Given the description of an element on the screen output the (x, y) to click on. 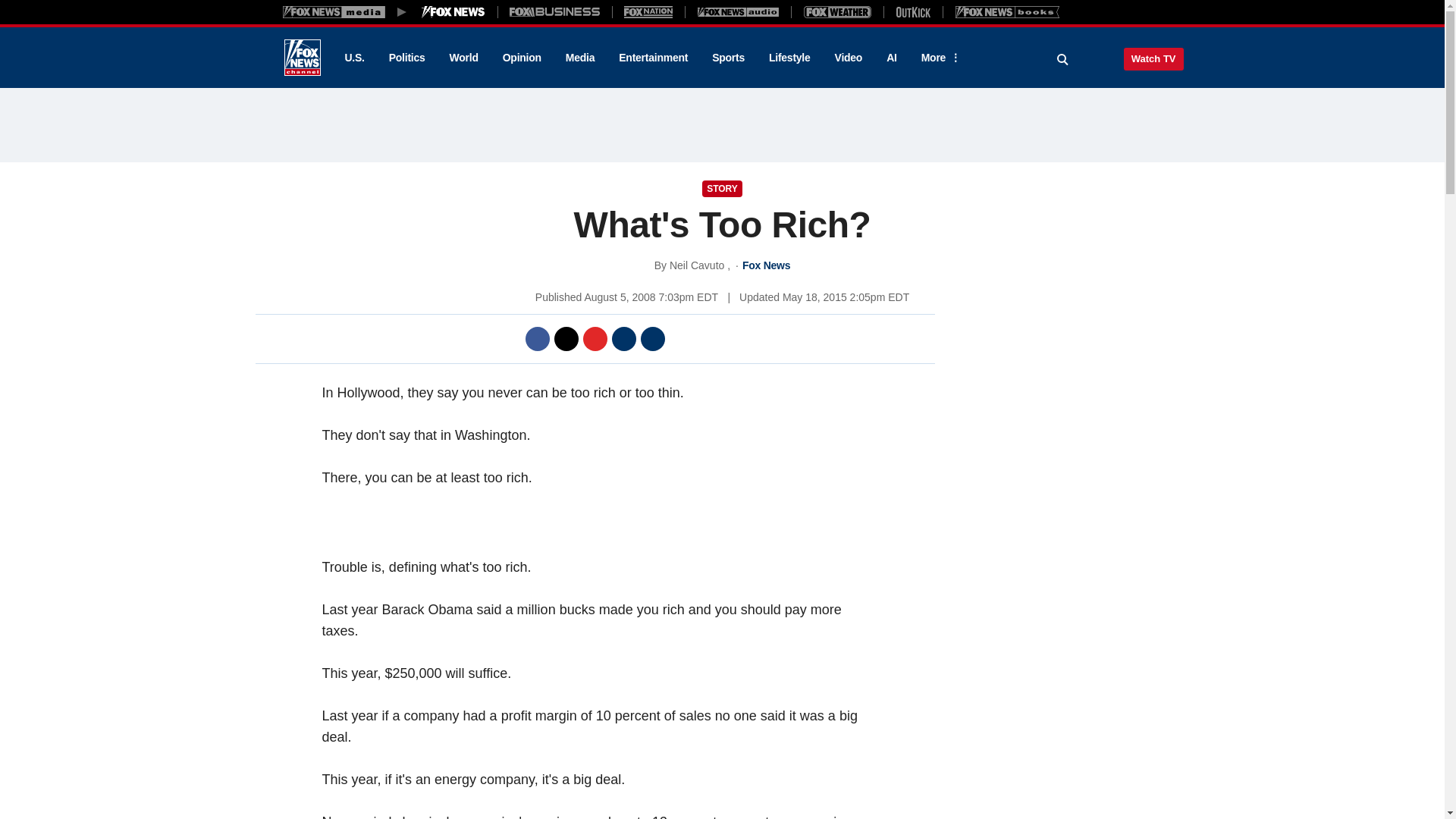
AI (891, 57)
Fox News Media (453, 11)
Entertainment (653, 57)
World (464, 57)
Fox Business (554, 11)
Video (848, 57)
Outkick (912, 11)
Lifestyle (789, 57)
Fox Nation (648, 11)
Sports (728, 57)
More (938, 57)
Opinion (521, 57)
Media (580, 57)
Fox News Audio (737, 11)
Fox News (301, 57)
